Given the description of an element on the screen output the (x, y) to click on. 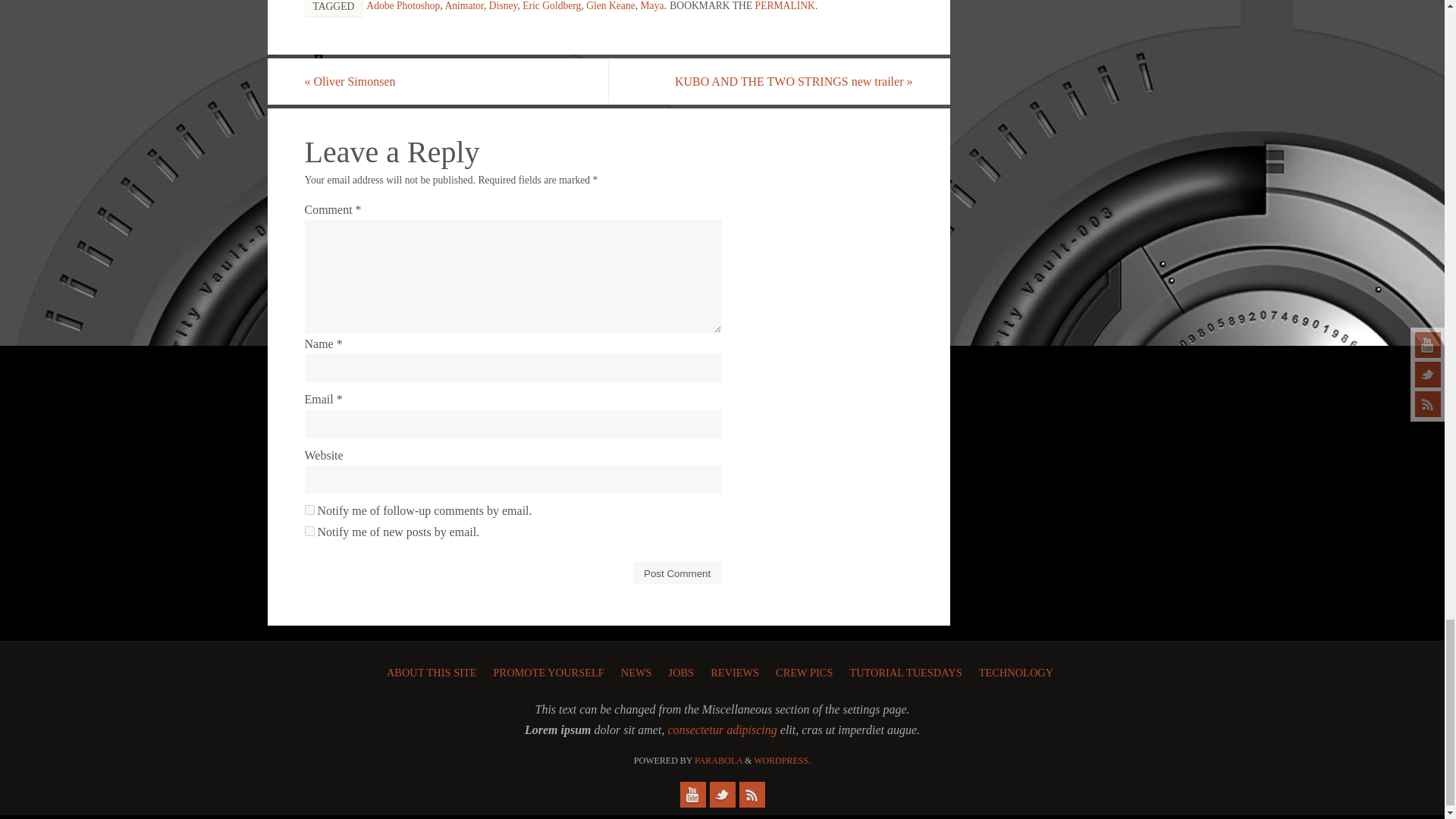
Glen Keane (610, 5)
Disney (503, 5)
Eric Goldberg (551, 5)
PERMALINK (785, 5)
Animator (463, 5)
subscribe (309, 510)
Post Comment (677, 572)
Adobe Photoshop (402, 5)
Maya (651, 5)
subscribe (309, 531)
